Given the description of an element on the screen output the (x, y) to click on. 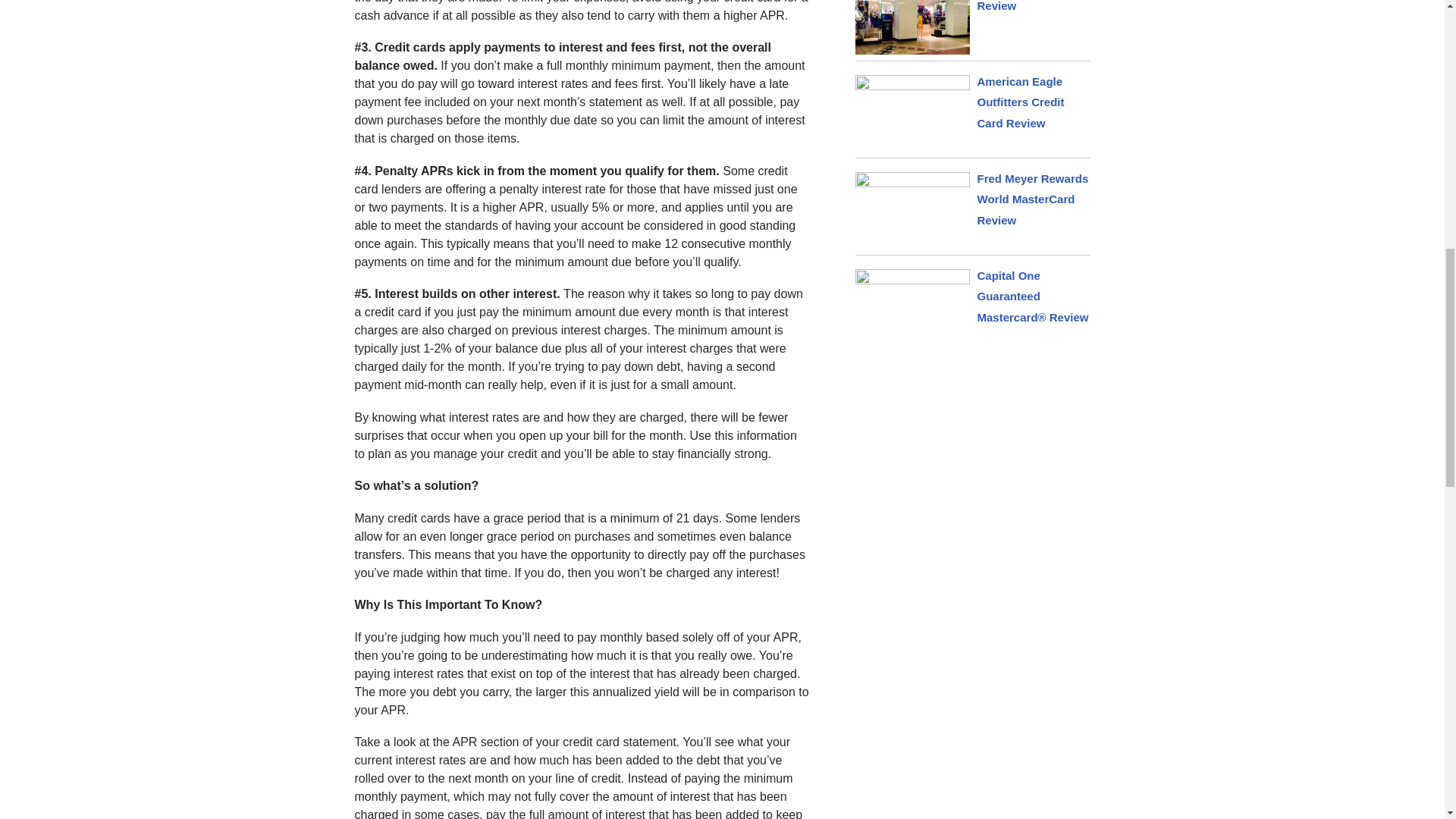
Express Credit Card Review (1031, 6)
American Eagle Outfitters Credit Card Review (1020, 101)
Fred Meyer Rewards World MasterCard Review (1031, 198)
American Eagle Outfitters Credit Card Review (1020, 101)
Fred Meyer Rewards World MasterCard Review (1031, 198)
Express Credit Card Review (1031, 6)
